Given the description of an element on the screen output the (x, y) to click on. 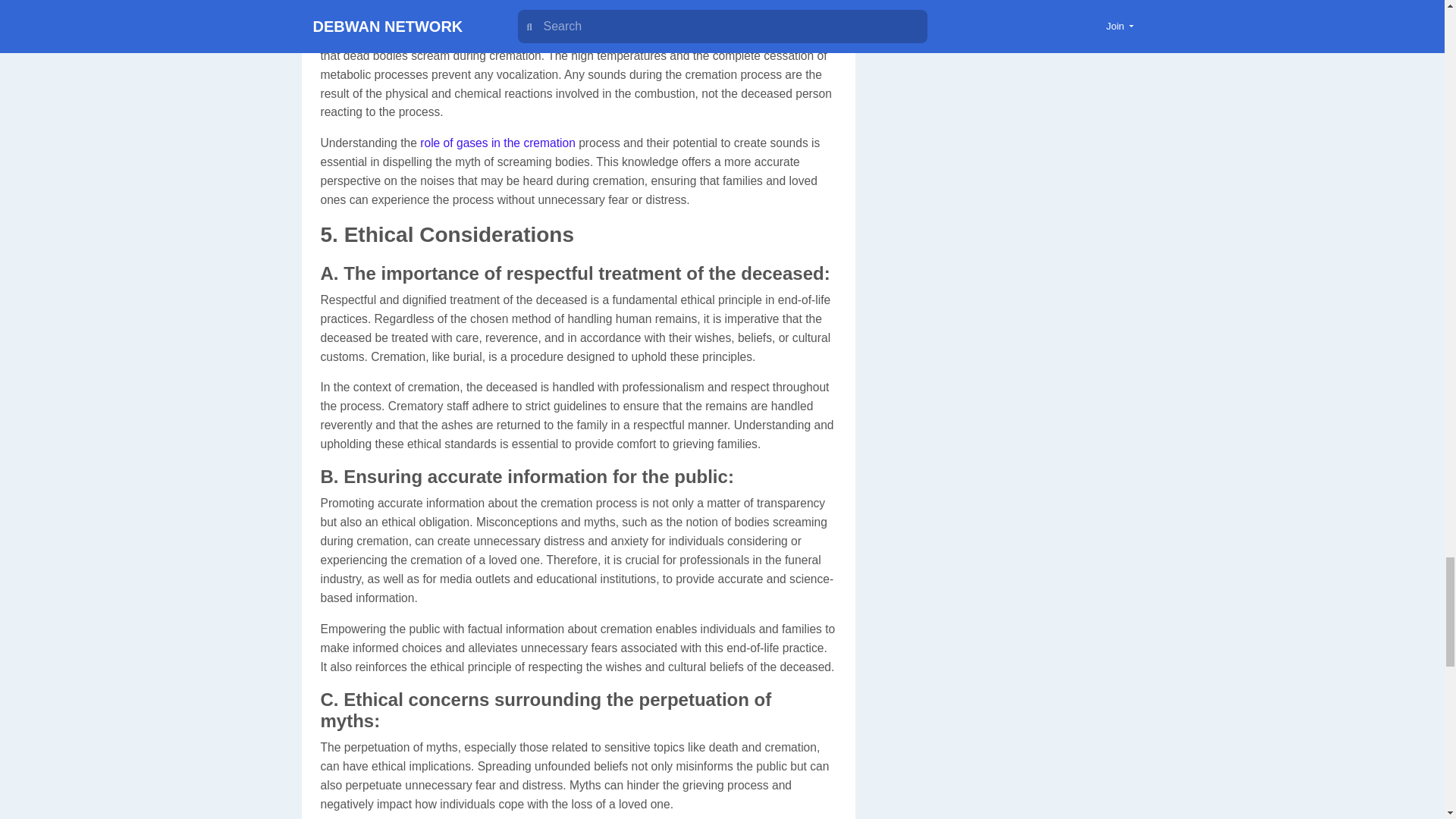
role of gases in the cremation (497, 142)
